Given the description of an element on the screen output the (x, y) to click on. 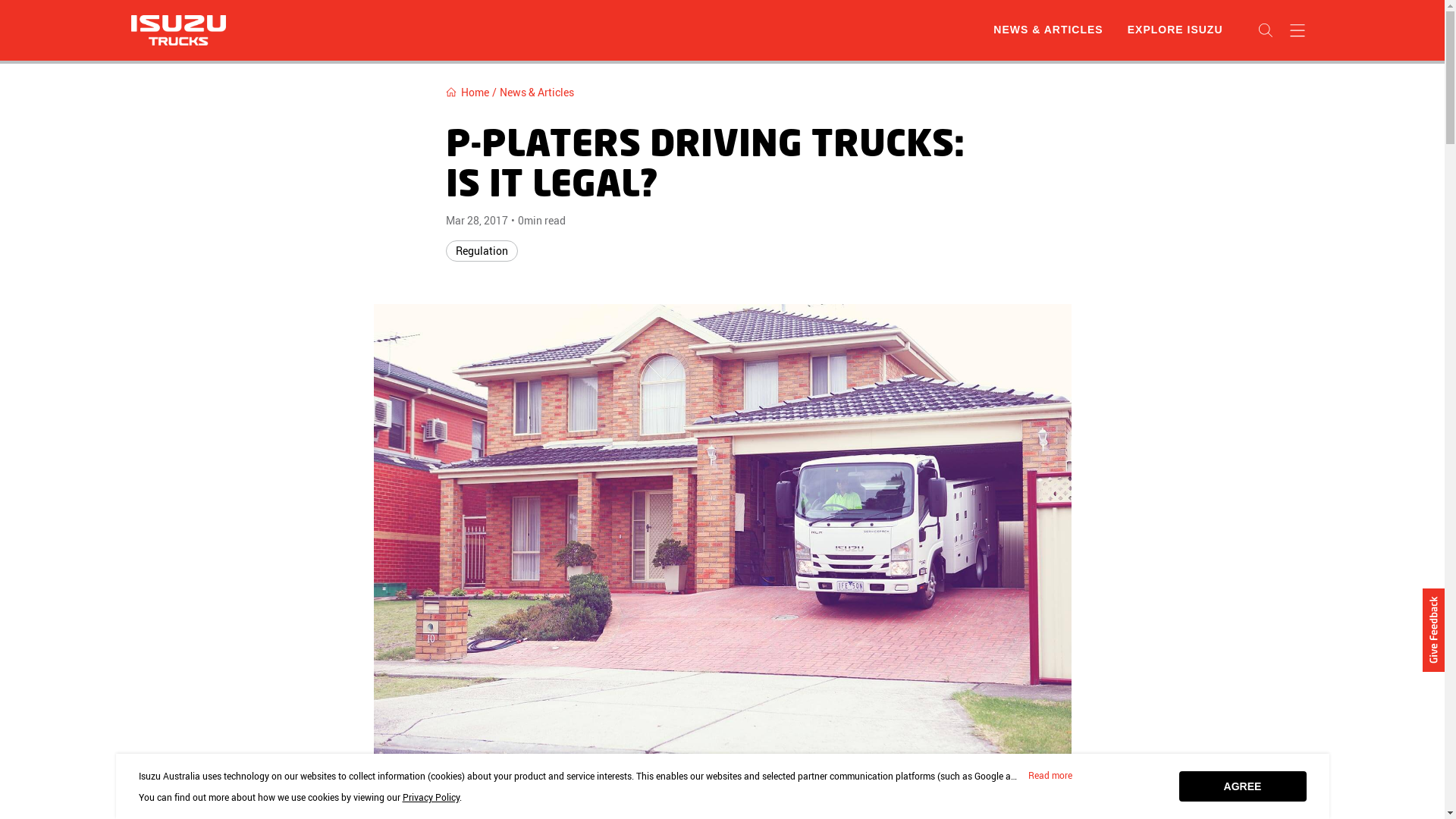
Read more Element type: text (1049, 775)
Privacy Policy Element type: text (429, 796)
NEWS & ARTICLES Element type: text (1047, 30)
Regulation Element type: text (481, 250)
News & Articles Element type: text (535, 92)
EXPLORE ISUZU Element type: text (1175, 30)
AGREE Element type: text (1241, 786)
P-Plate-Drivers.jpg Element type: hover (721, 536)
Home Element type: text (467, 92)
